Given the description of an element on the screen output the (x, y) to click on. 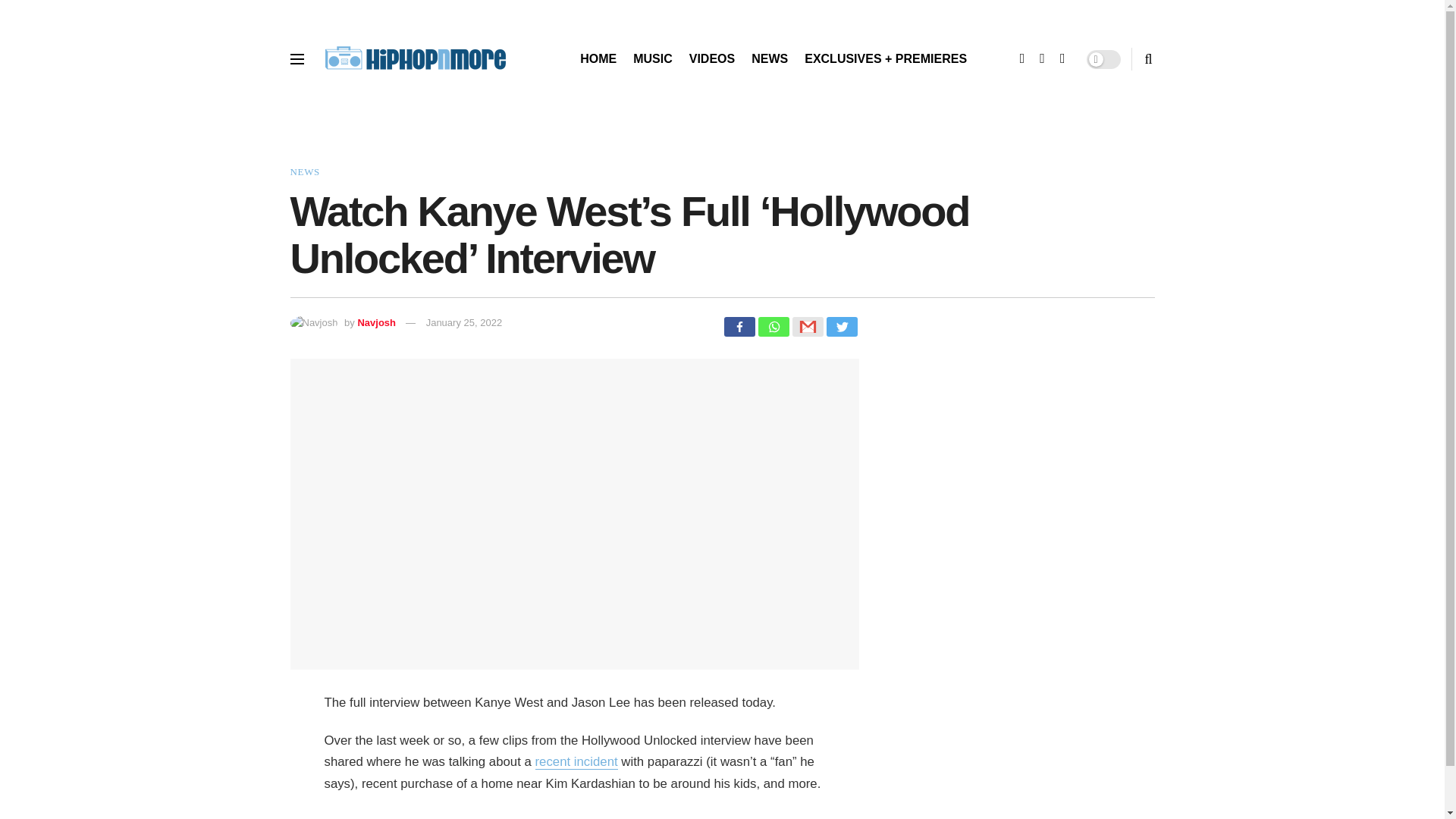
Navjosh (376, 322)
NEWS (303, 171)
MUSIC (652, 58)
Facebook (738, 326)
Google Gmail (807, 326)
VIDEOS (711, 58)
HOME (597, 58)
Whatsapp (773, 326)
NEWS (769, 58)
Twitter (842, 326)
